Given the description of an element on the screen output the (x, y) to click on. 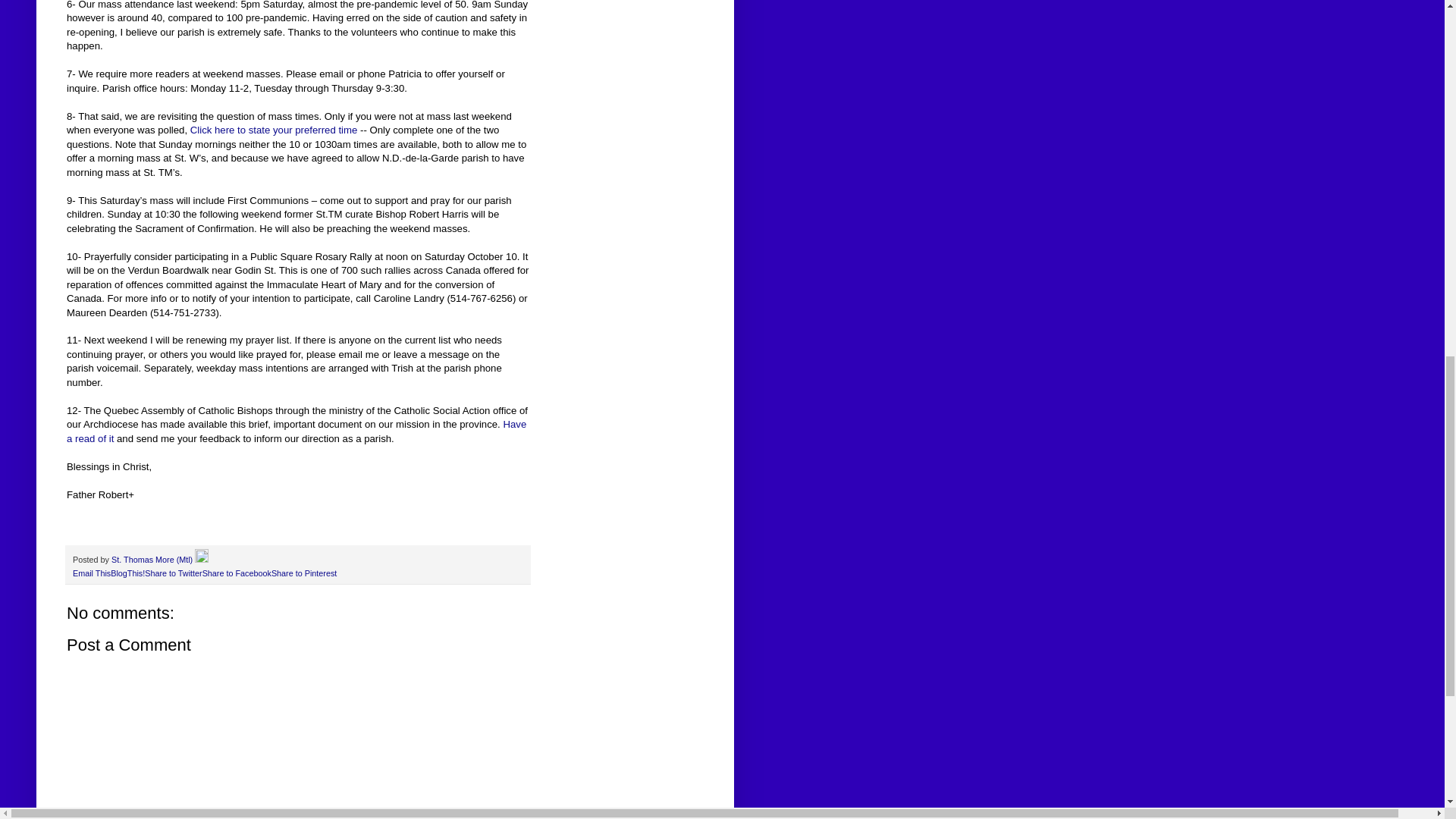
Email This (91, 573)
Share to Pinterest (303, 573)
Share to Pinterest (303, 573)
author profile (153, 559)
Share to Facebook (236, 573)
BlogThis! (127, 573)
Edit Post (201, 559)
Share to Facebook (236, 573)
Email This (91, 573)
BlogThis! (127, 573)
